Given the description of an element on the screen output the (x, y) to click on. 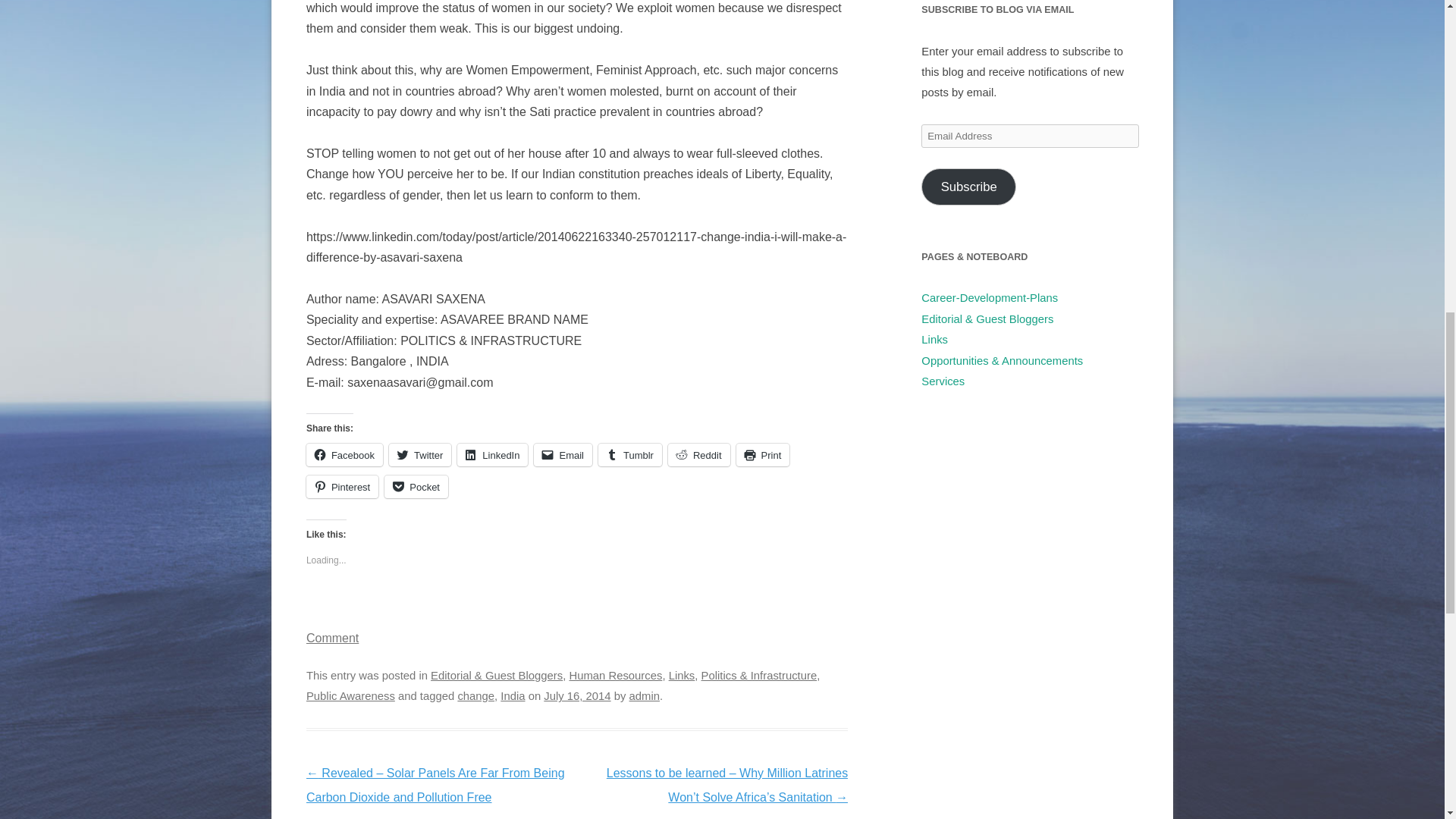
Human Resources (615, 675)
Reddit (699, 454)
July 16, 2014 (576, 695)
Click to share on Tumblr (630, 454)
Pocket (416, 486)
Click to share on Twitter (419, 454)
View all posts by admin (643, 695)
Email (563, 454)
Public Awareness (349, 695)
Click to share on Pinterest (341, 486)
